Given the description of an element on the screen output the (x, y) to click on. 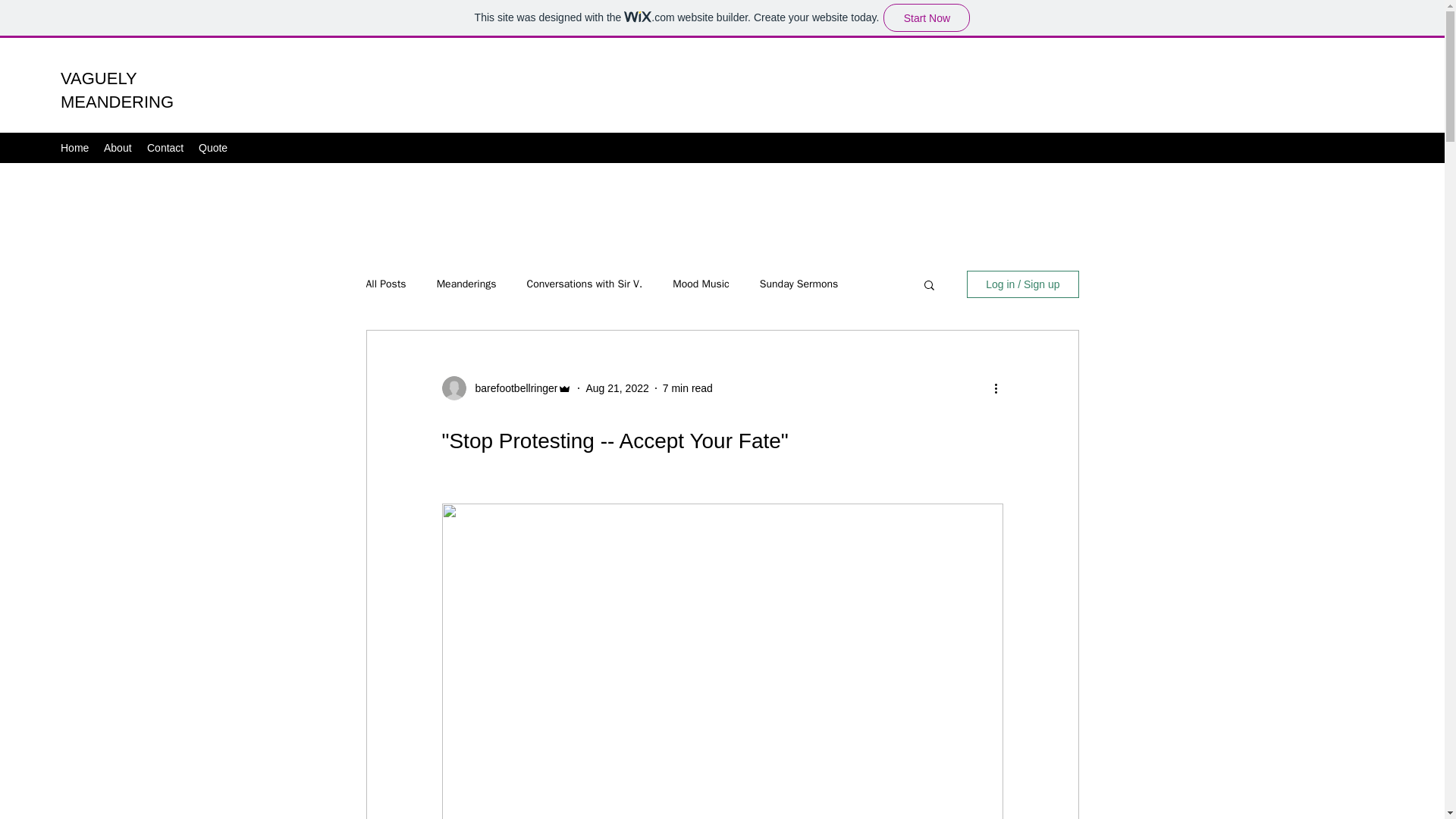
Aug 21, 2022 (616, 387)
Mood Music (700, 284)
Meanderings (466, 284)
VAGUELY MEANDERING (117, 89)
All Posts (385, 284)
barefootbellringer (511, 388)
Sunday Sermons (799, 284)
7 min read (687, 387)
About (117, 147)
Quote (212, 147)
